Given the description of an element on the screen output the (x, y) to click on. 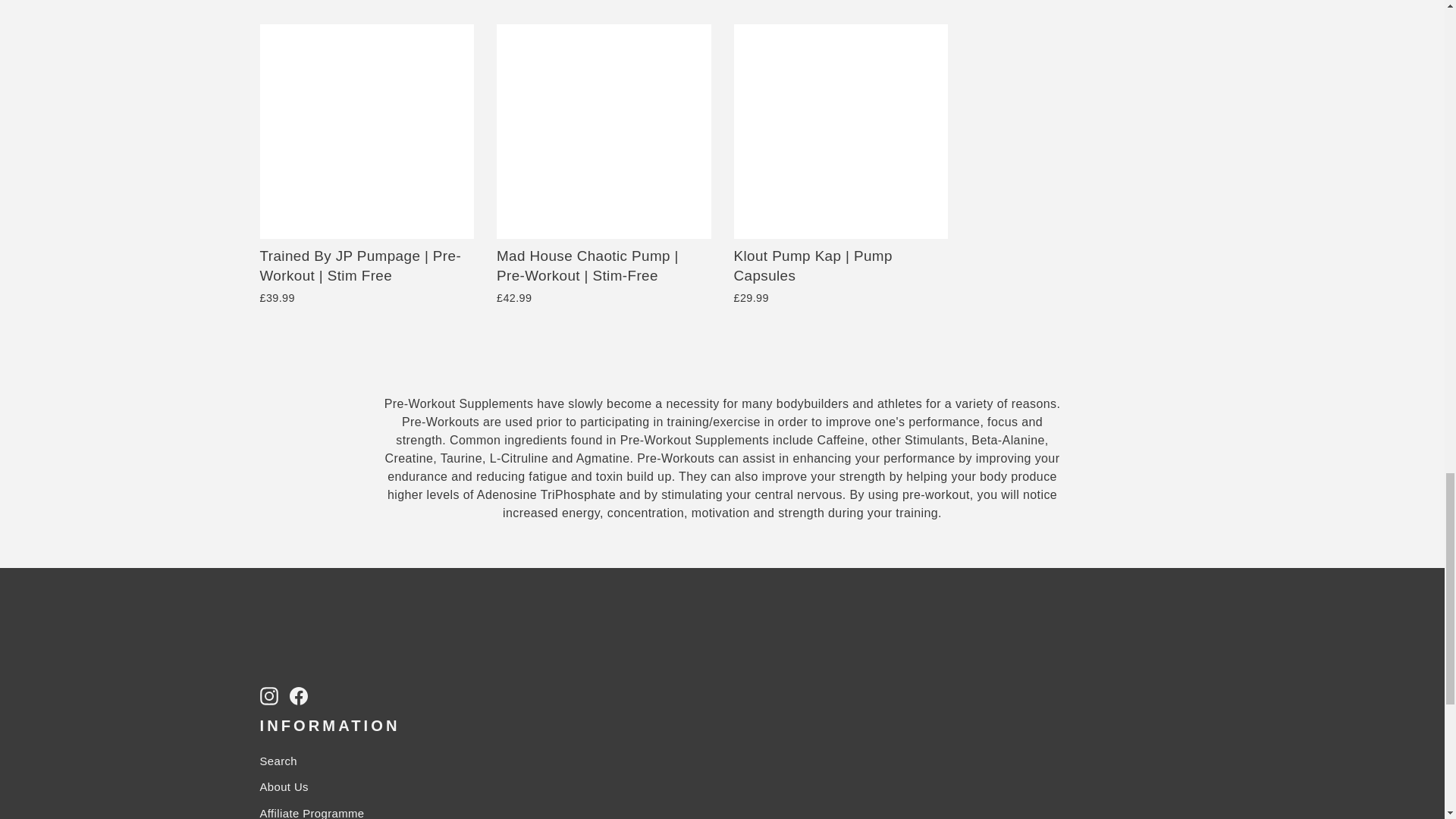
instagram (268, 696)
The Supps House LTD  on Instagram (268, 695)
The Supps House LTD  on Facebook (298, 695)
